Given the description of an element on the screen output the (x, y) to click on. 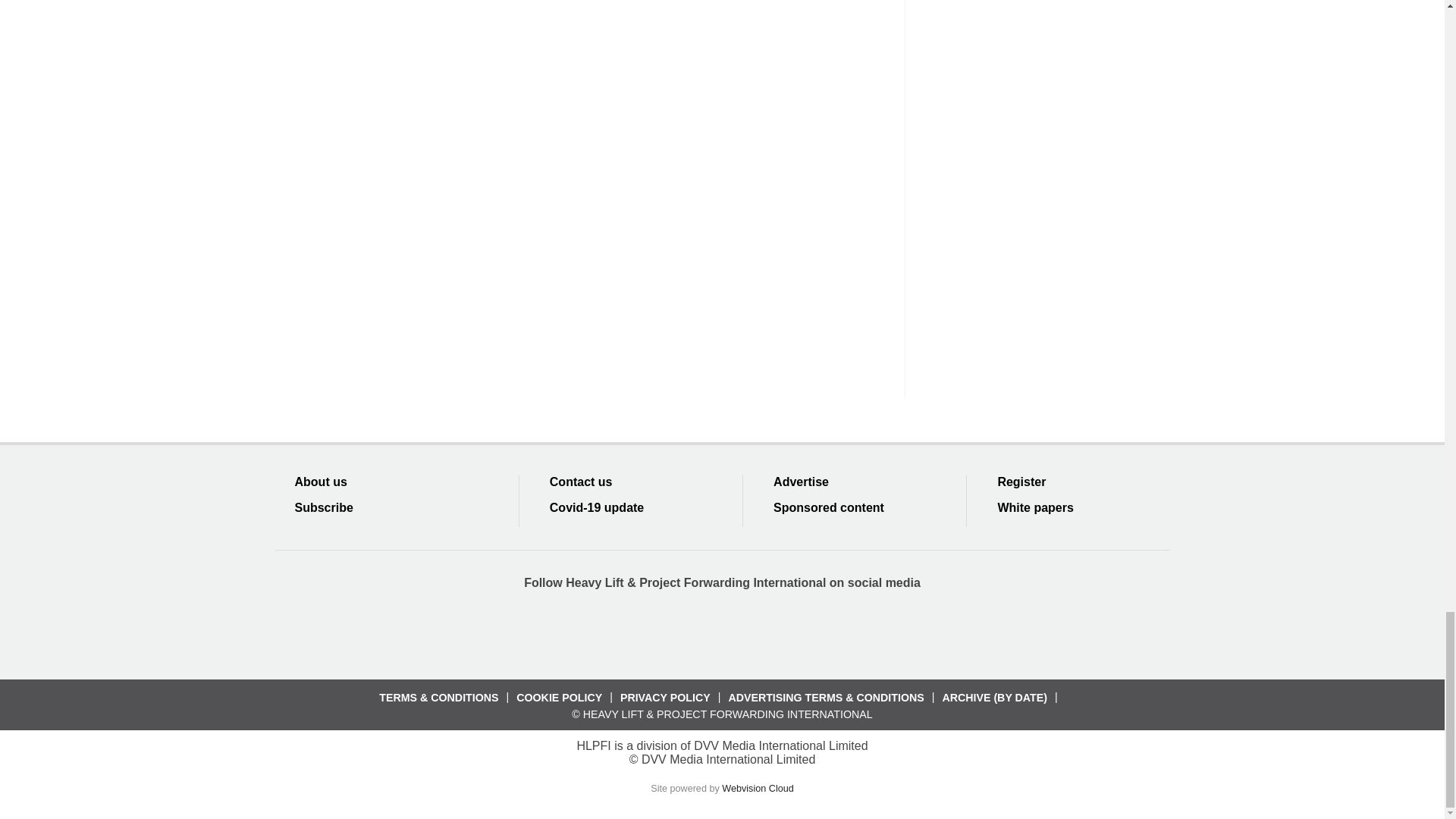
Connect with us on Instagram (831, 632)
Email us (776, 632)
Connect with us on Twitter (667, 632)
Connect with us on LinkedIn (721, 632)
Connect with us on Facebook (611, 632)
